Given the description of an element on the screen output the (x, y) to click on. 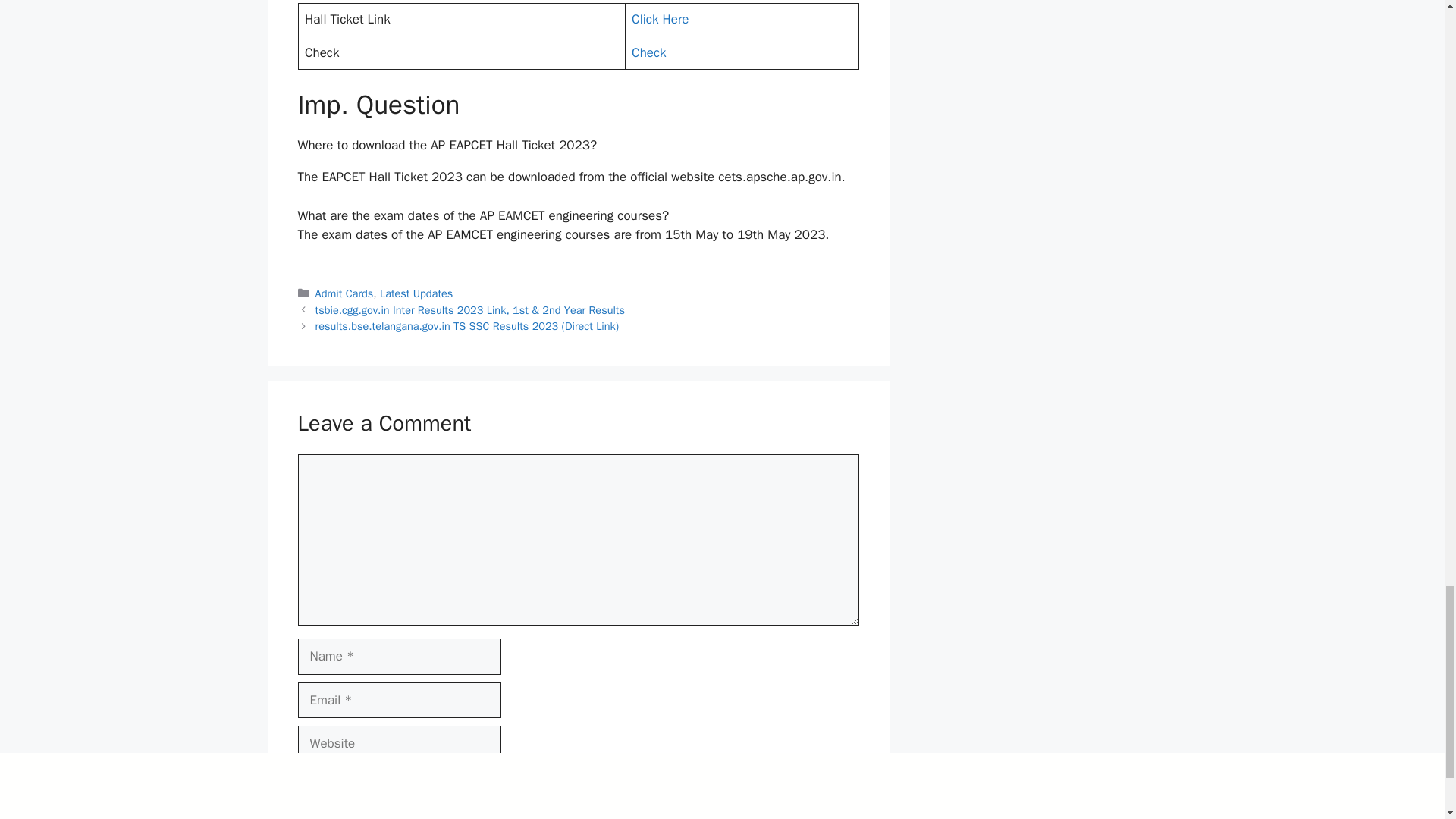
Latest Updates (416, 293)
Admit Cards (344, 293)
Post Comment (354, 813)
Click Here (659, 19)
Check (648, 52)
Post Comment (354, 813)
yes (302, 778)
